Given the description of an element on the screen output the (x, y) to click on. 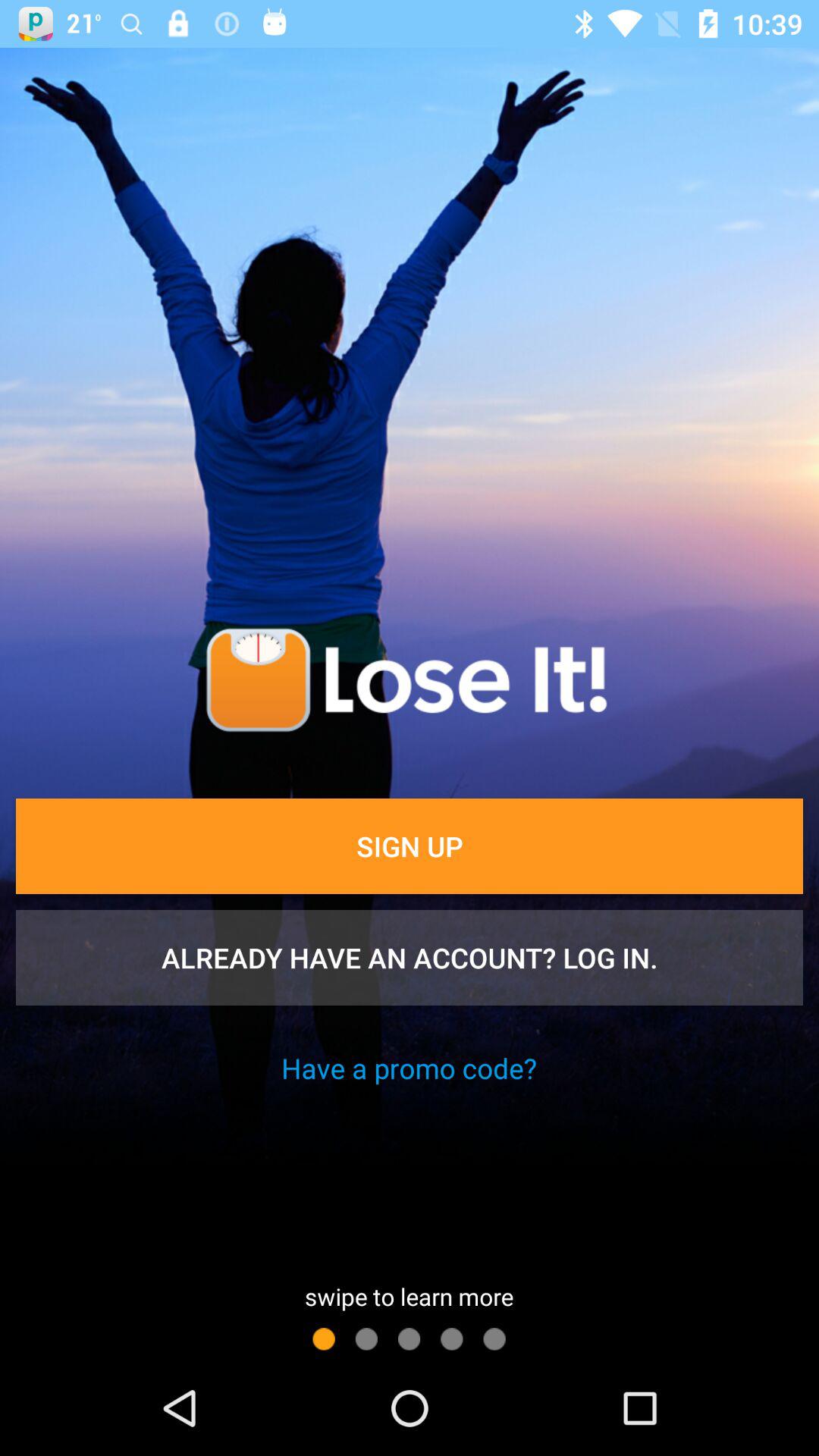
flip to already have an item (409, 957)
